Given the description of an element on the screen output the (x, y) to click on. 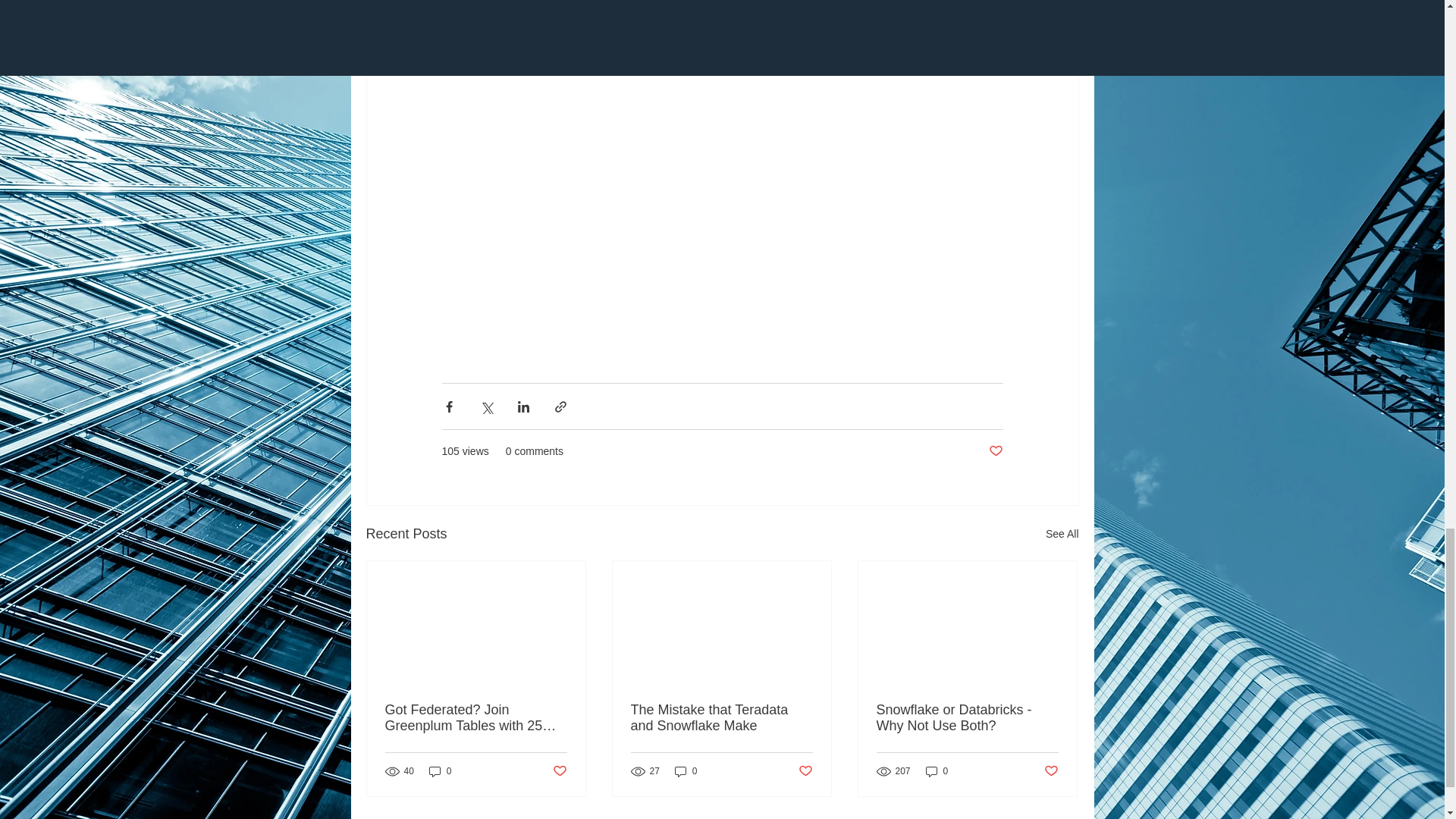
0 (440, 771)
Post not marked as liked (1050, 771)
Snowflake or Databricks - Why Not Use Both? (967, 717)
0 (685, 771)
Post not marked as liked (995, 451)
0 (937, 771)
The Mistake that Teradata and Snowflake Make (721, 717)
Got Federated? Join Greenplum Tables with 25 Systems (476, 717)
Post not marked as liked (558, 771)
Post not marked as liked (804, 771)
See All (1061, 534)
